Given the description of an element on the screen output the (x, y) to click on. 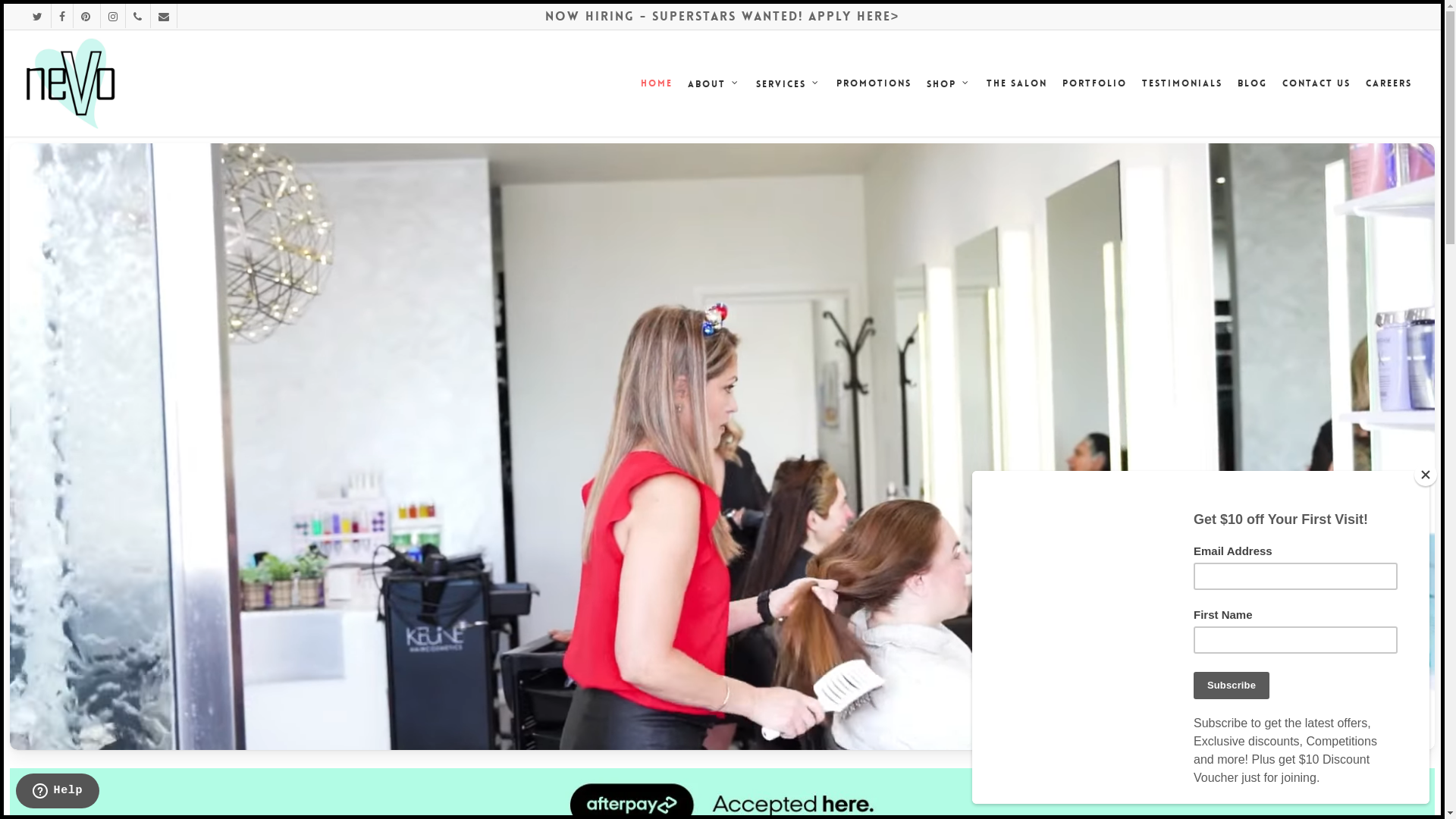
Menu Element type: text (1411, 11)
Opens a widget where you can chat to one of our agents Element type: hover (57, 792)
Testimonials Element type: text (1182, 82)
phone Element type: text (137, 15)
The Salon Element type: text (1016, 82)
twitter Element type: text (37, 15)
Promotions Element type: text (873, 82)
NOW HIRING - SUPERSTARS WANTED! APPLY HERE> Element type: text (722, 16)
Careers Element type: text (1388, 82)
Contact us Element type: text (1316, 82)
instagram Element type: text (112, 15)
About Element type: text (714, 83)
Portfolio Element type: text (1094, 82)
pinterest Element type: text (86, 15)
Home Element type: text (656, 82)
email Element type: text (163, 15)
Services Element type: text (788, 83)
Shop Element type: text (949, 83)
Blog Element type: text (1252, 82)
facebook Element type: text (61, 15)
